Given the description of an element on the screen output the (x, y) to click on. 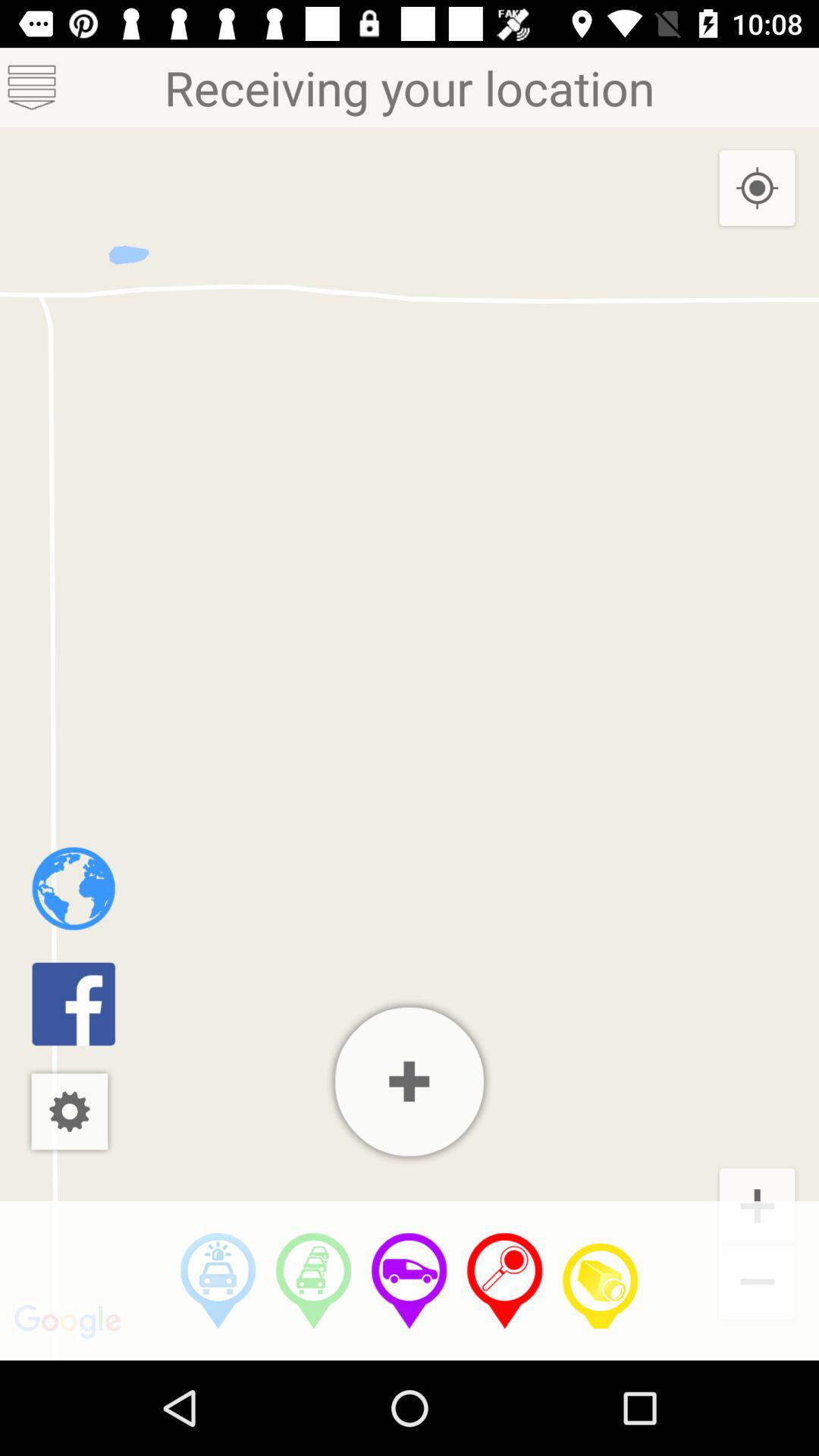
add more details (409, 1081)
